Given the description of an element on the screen output the (x, y) to click on. 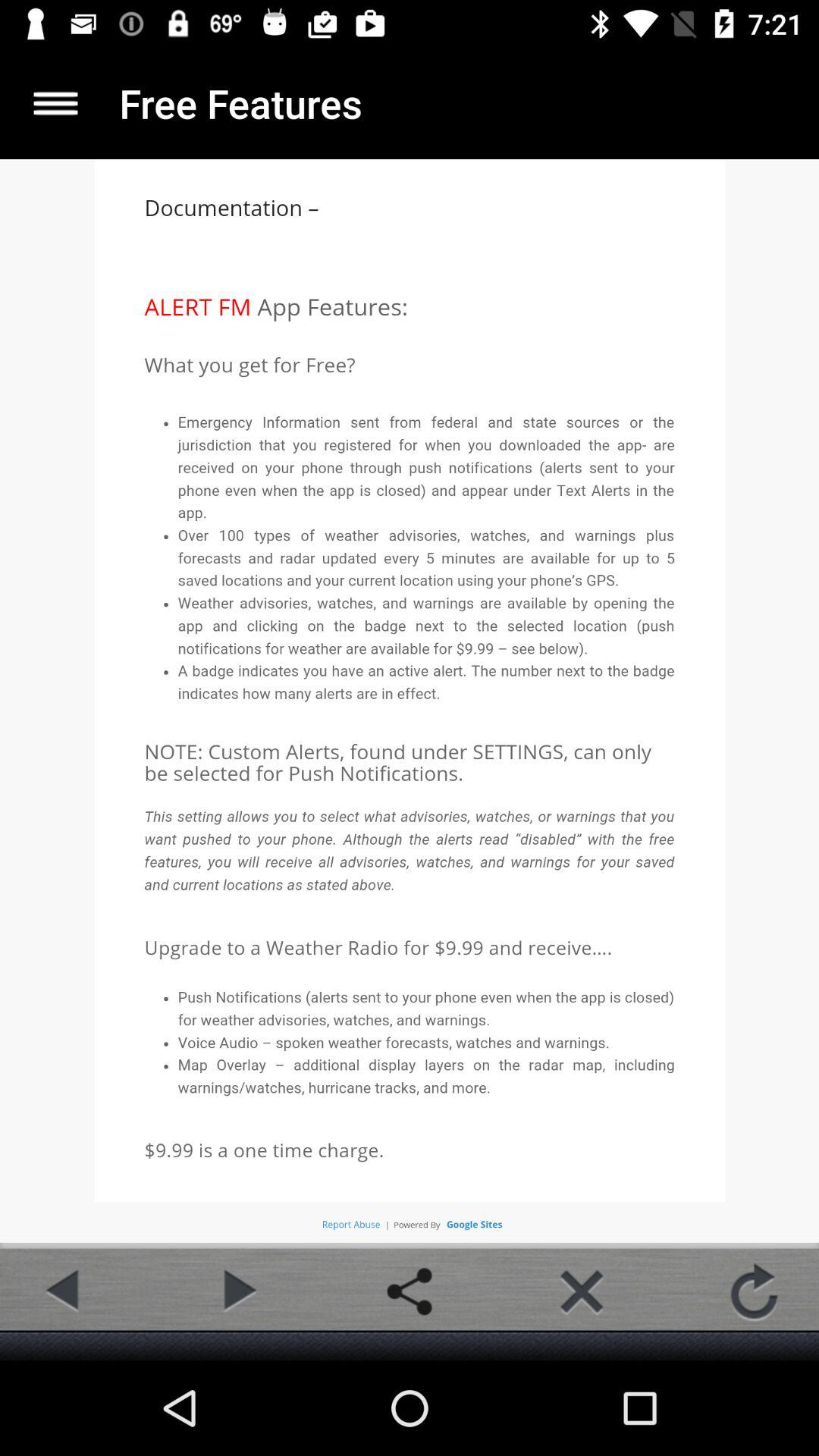
go to next (237, 1291)
